Given the description of an element on the screen output the (x, y) to click on. 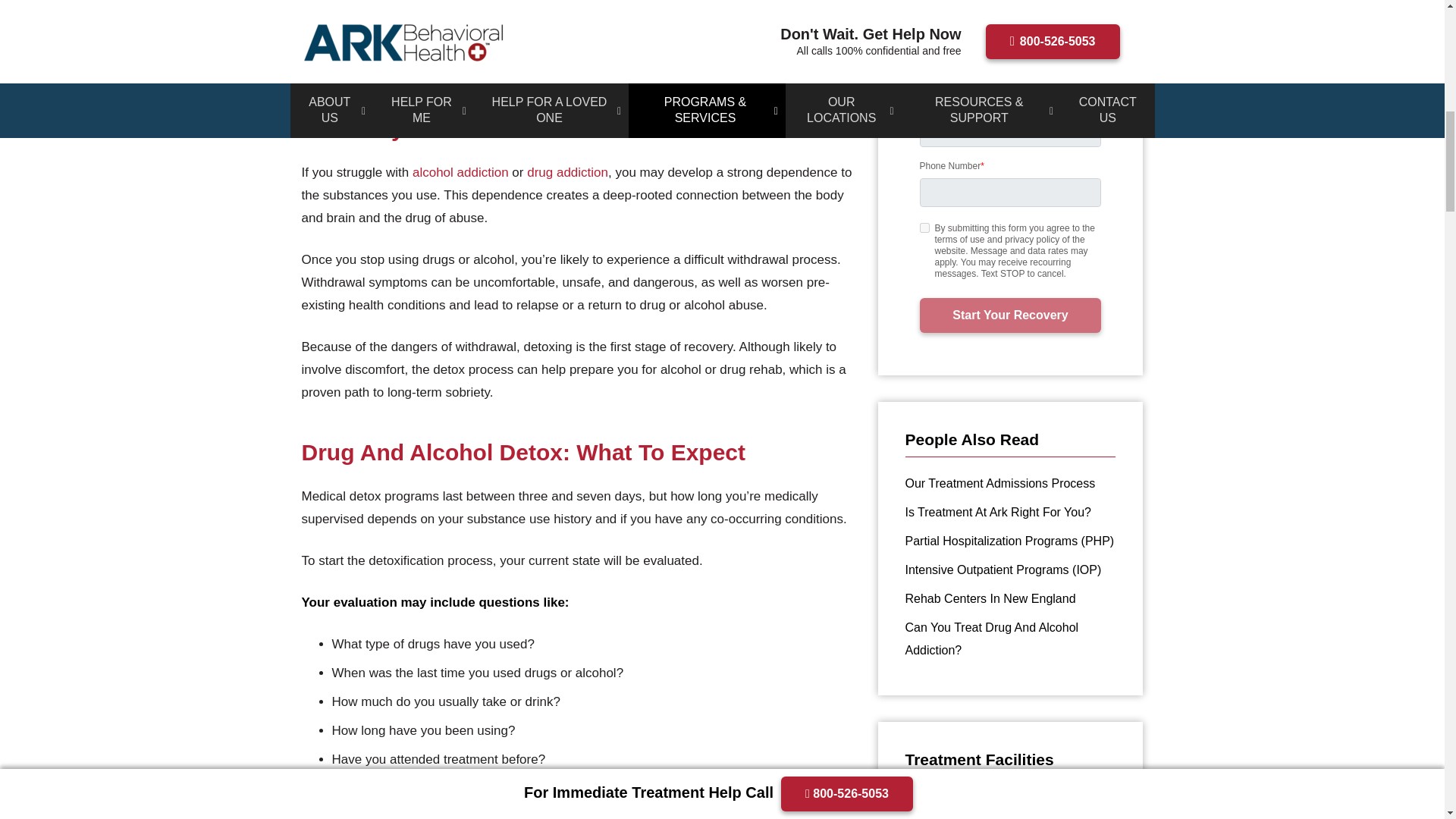
on (923, 227)
